Given the description of an element on the screen output the (x, y) to click on. 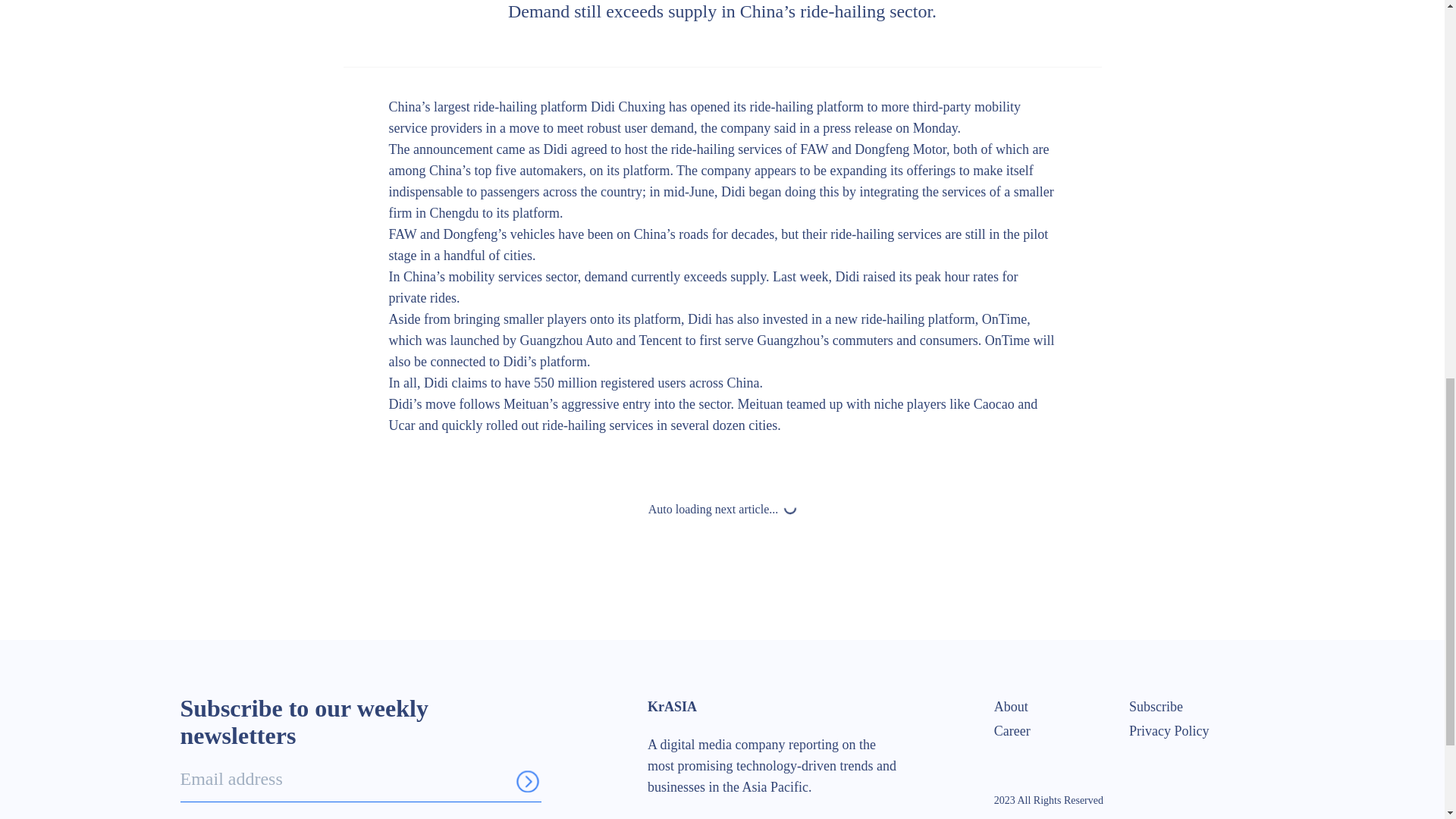
integrating the services of a smaller firm (720, 202)
teamed up with niche players like Caocao and Ucar (712, 414)
raised its peak hour rates (930, 276)
invested in a new ride-hailing platform (867, 319)
